Given the description of an element on the screen output the (x, y) to click on. 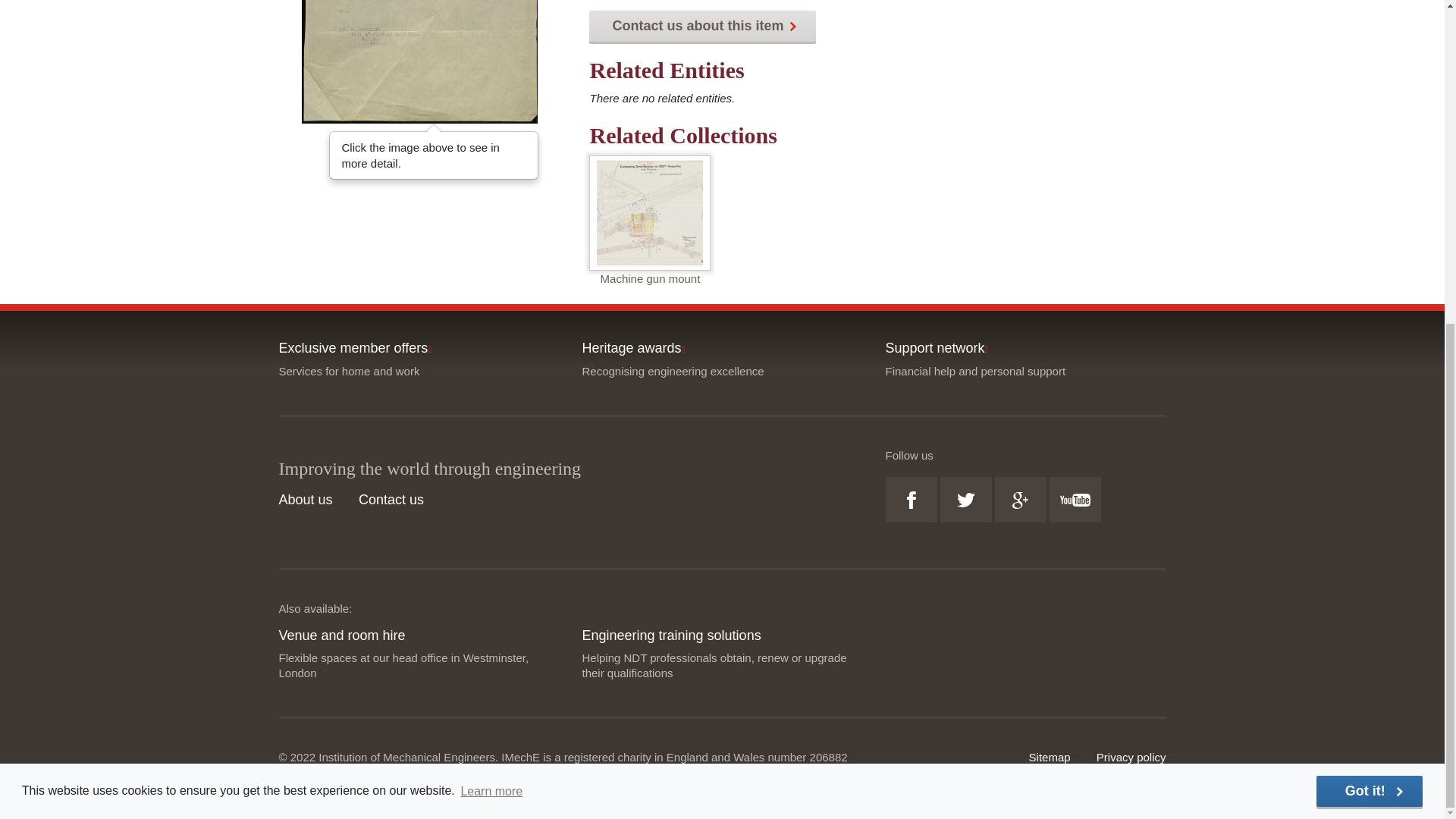
Learn more (491, 261)
Hall to Maughan (419, 61)
Machine gun mount (649, 212)
Got it! (1369, 261)
